Given the description of an element on the screen output the (x, y) to click on. 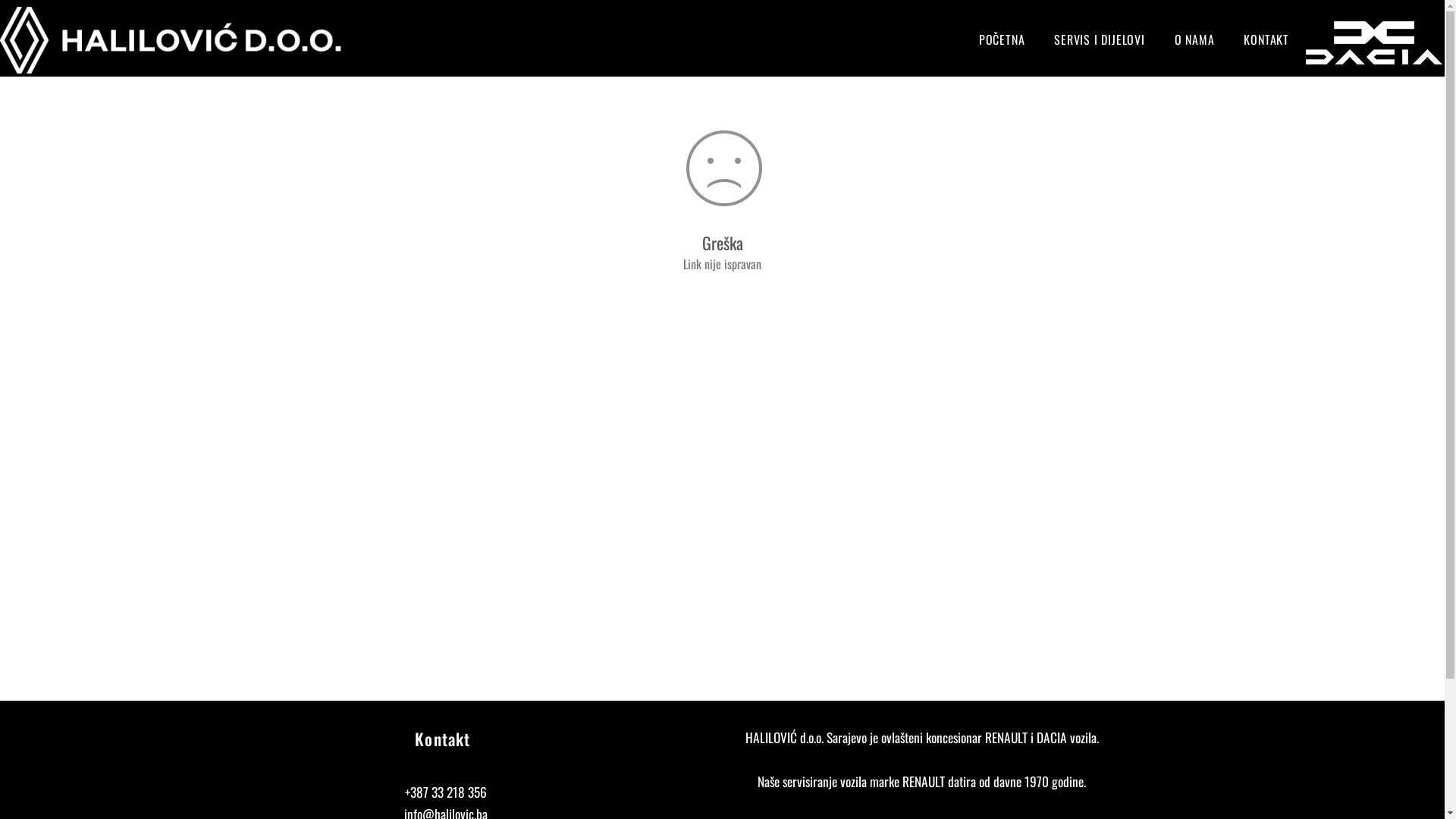
DACIA Element type: text (1375, 41)
O NAMA Element type: text (1194, 39)
KONTAKT Element type: text (1266, 39)
SERVIS I DIJELOVI Element type: text (1099, 39)
